Given the description of an element on the screen output the (x, y) to click on. 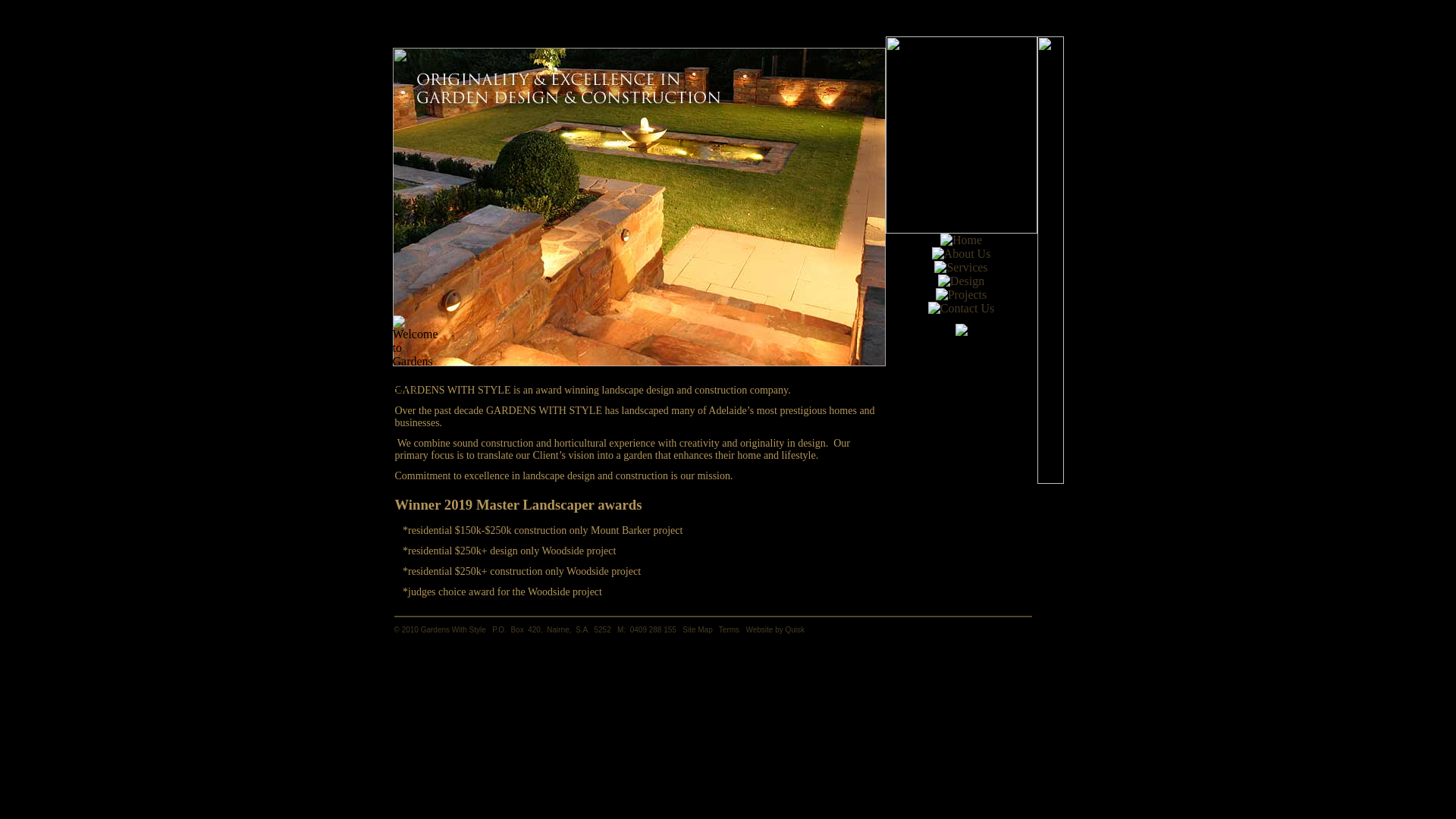
Terms Element type: text (728, 629)
Site Map Element type: text (697, 629)
Website by Quisk Element type: text (774, 629)
